Given the description of an element on the screen output the (x, y) to click on. 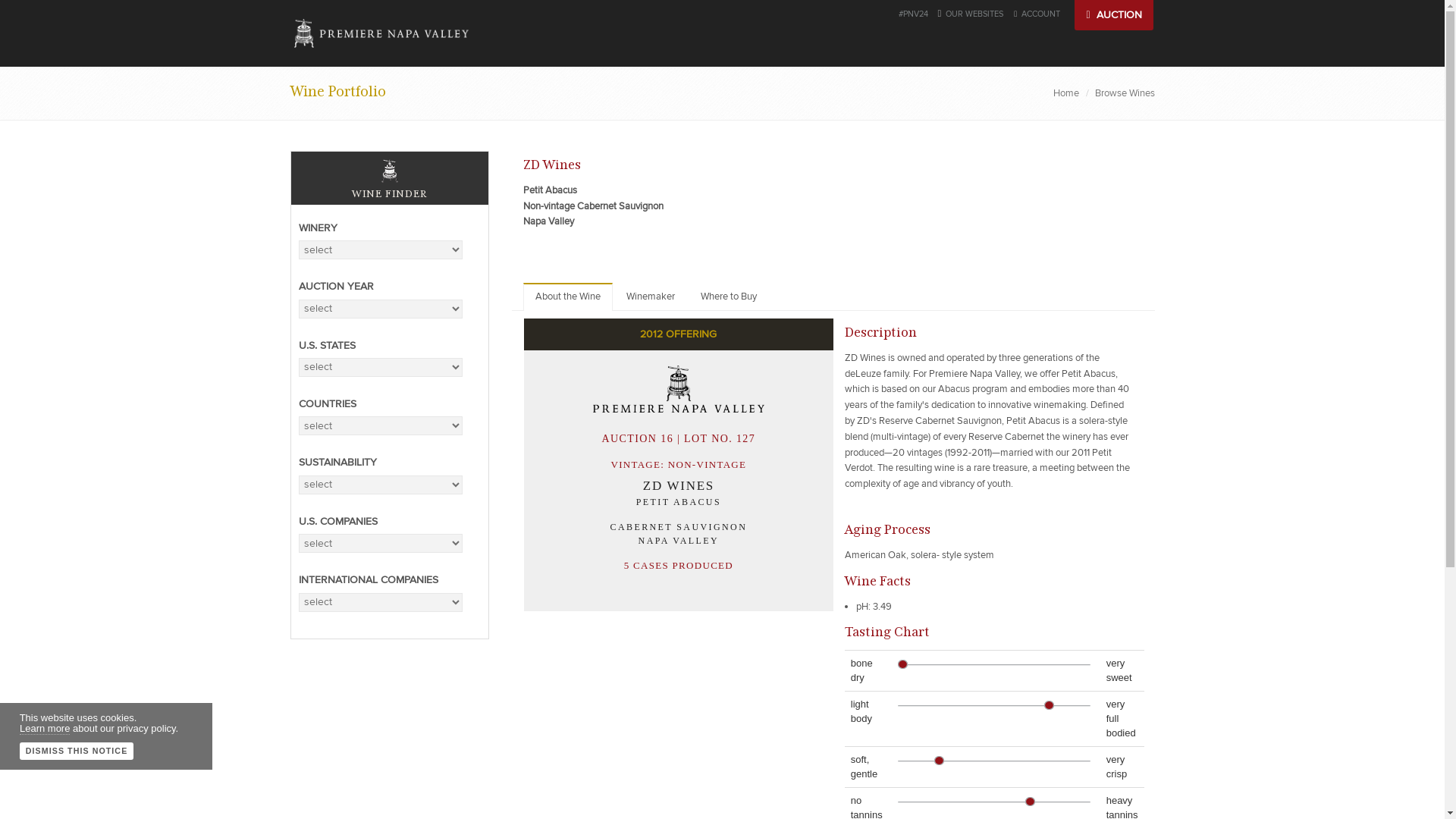
  AUCTION (1113, 15)
Home (1065, 92)
OUR WEBSITES (973, 13)
  ACCOUNT (1036, 13)
Winemaker (650, 296)
About the Wine (567, 296)
Browse Wines (1124, 92)
Where to Buy (728, 296)
